Given the description of an element on the screen output the (x, y) to click on. 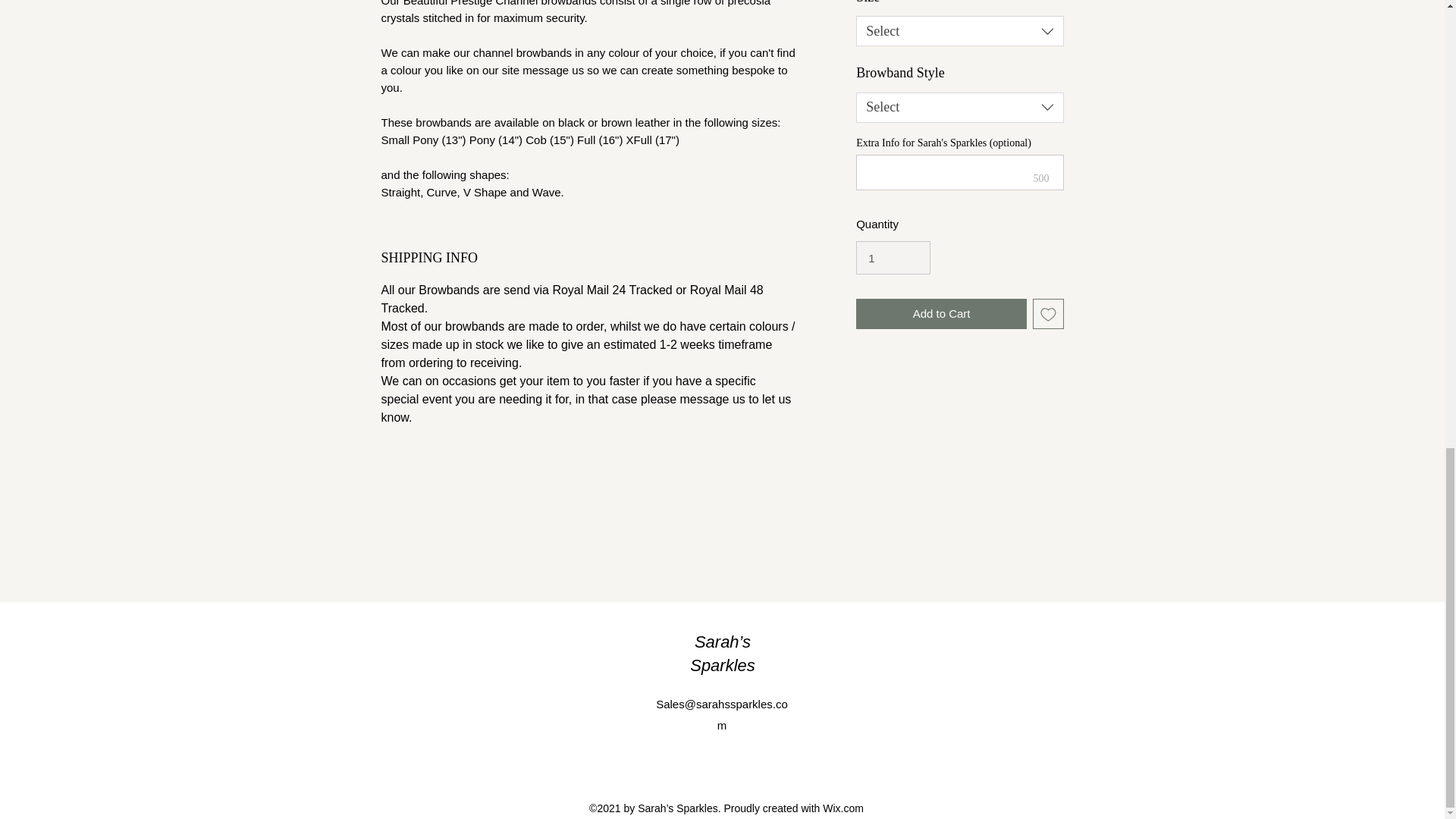
Add to Cart (941, 314)
Select (959, 107)
Select (959, 30)
1 (893, 257)
